Given the description of an element on the screen output the (x, y) to click on. 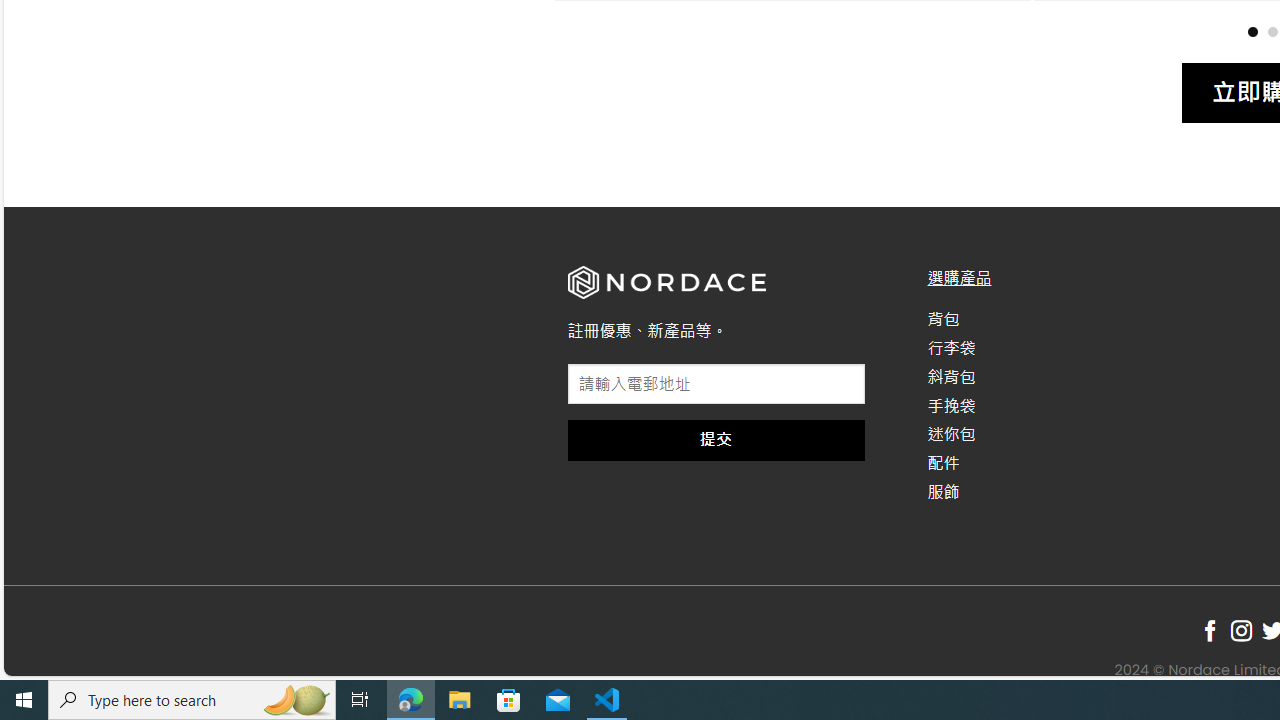
Follow on Facebook (1210, 631)
